Given the description of an element on the screen output the (x, y) to click on. 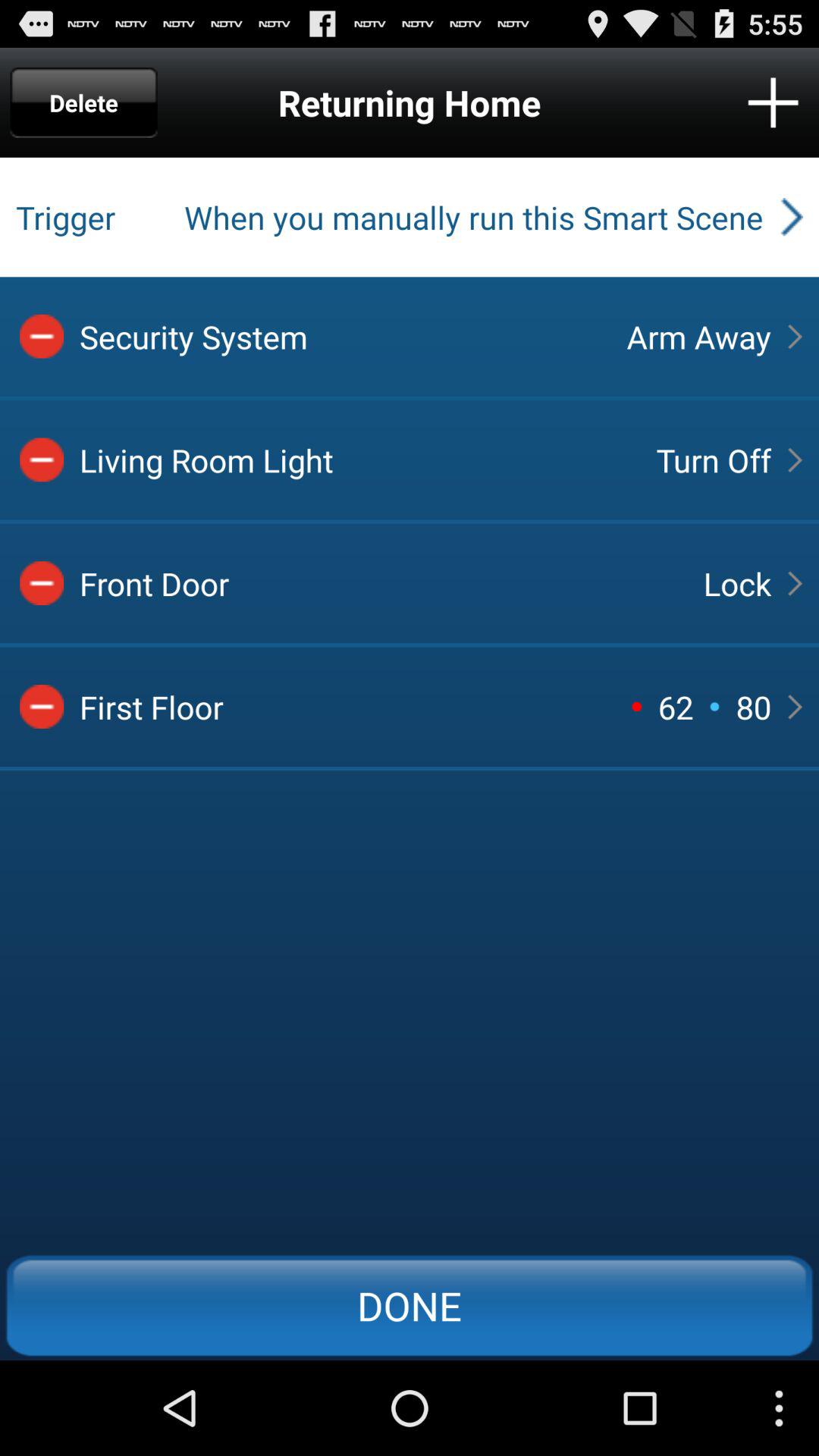
select the red colow option (41, 583)
